Given the description of an element on the screen output the (x, y) to click on. 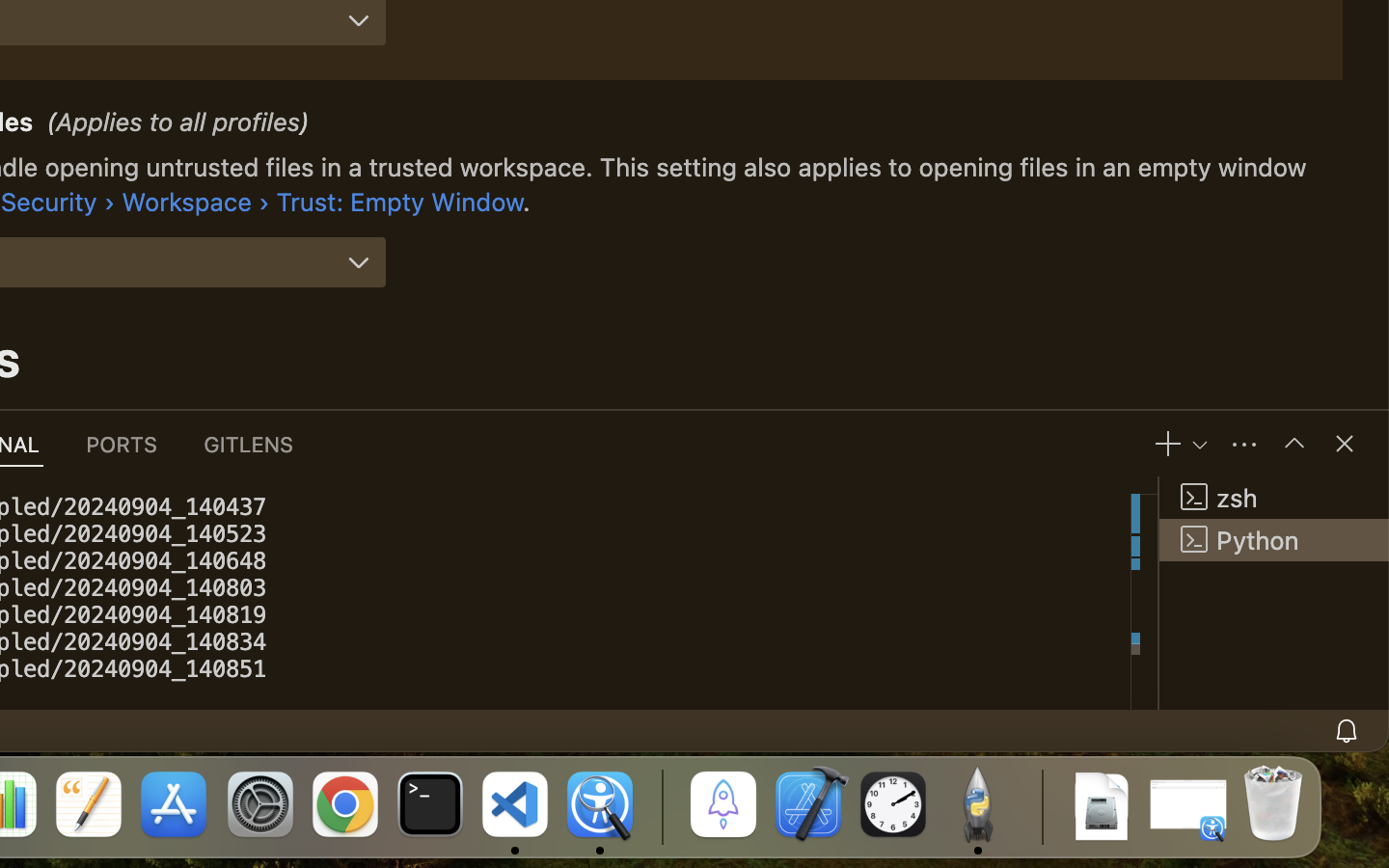
zsh  Element type: AXGroup (1274, 497)
 Element type: AXCheckBox (1294, 443)
 Element type: AXStaticText (358, 261)
0 GITLENS Element type: AXRadioButton (249, 443)
